Given the description of an element on the screen output the (x, y) to click on. 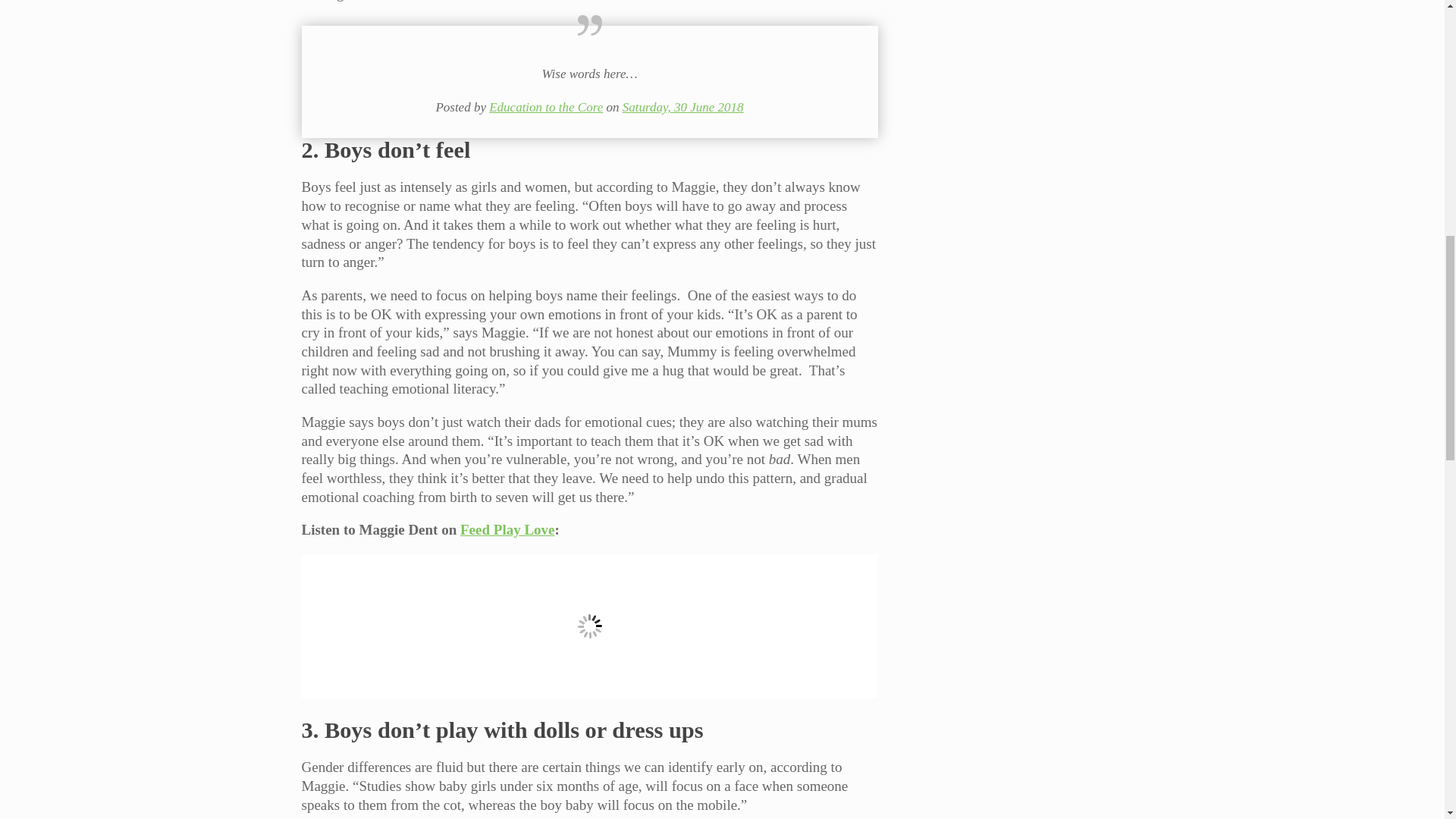
Saturday, 30 June 2018 (683, 106)
Education to the Core (545, 106)
